Given the description of an element on the screen output the (x, y) to click on. 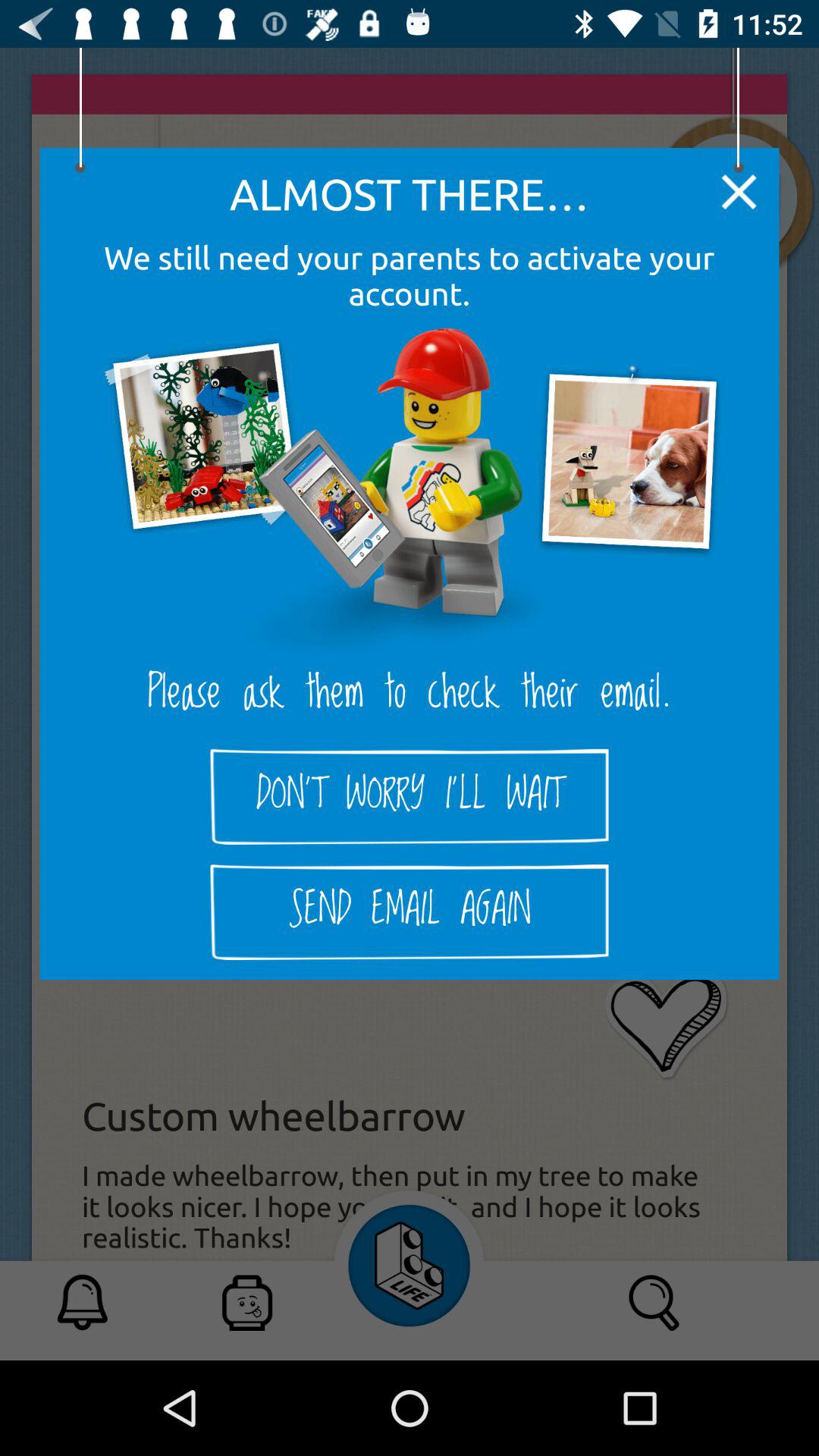
jump to the send email again icon (409, 912)
